Given the description of an element on the screen output the (x, y) to click on. 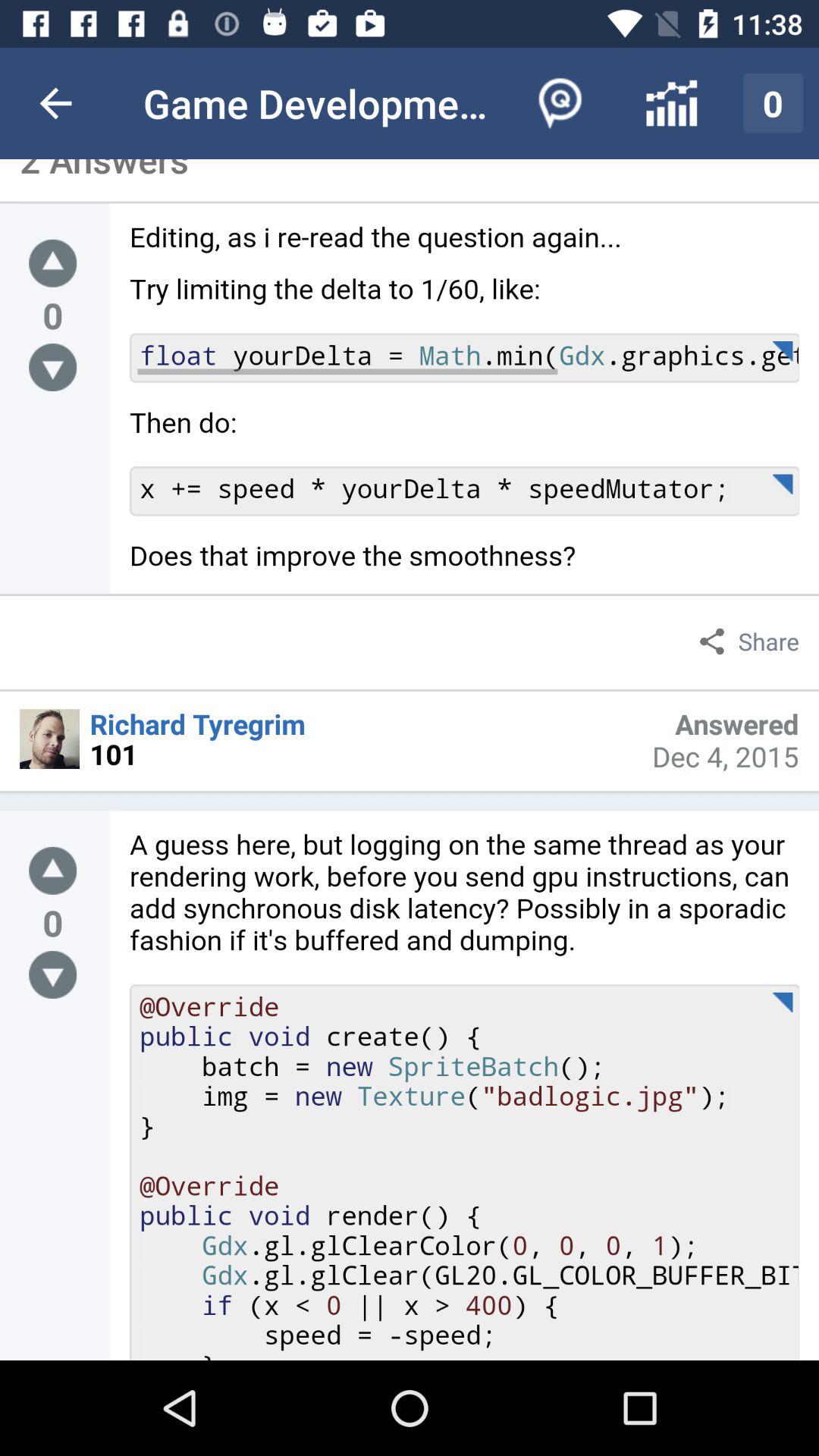
close the add (52, 263)
